Given the description of an element on the screen output the (x, y) to click on. 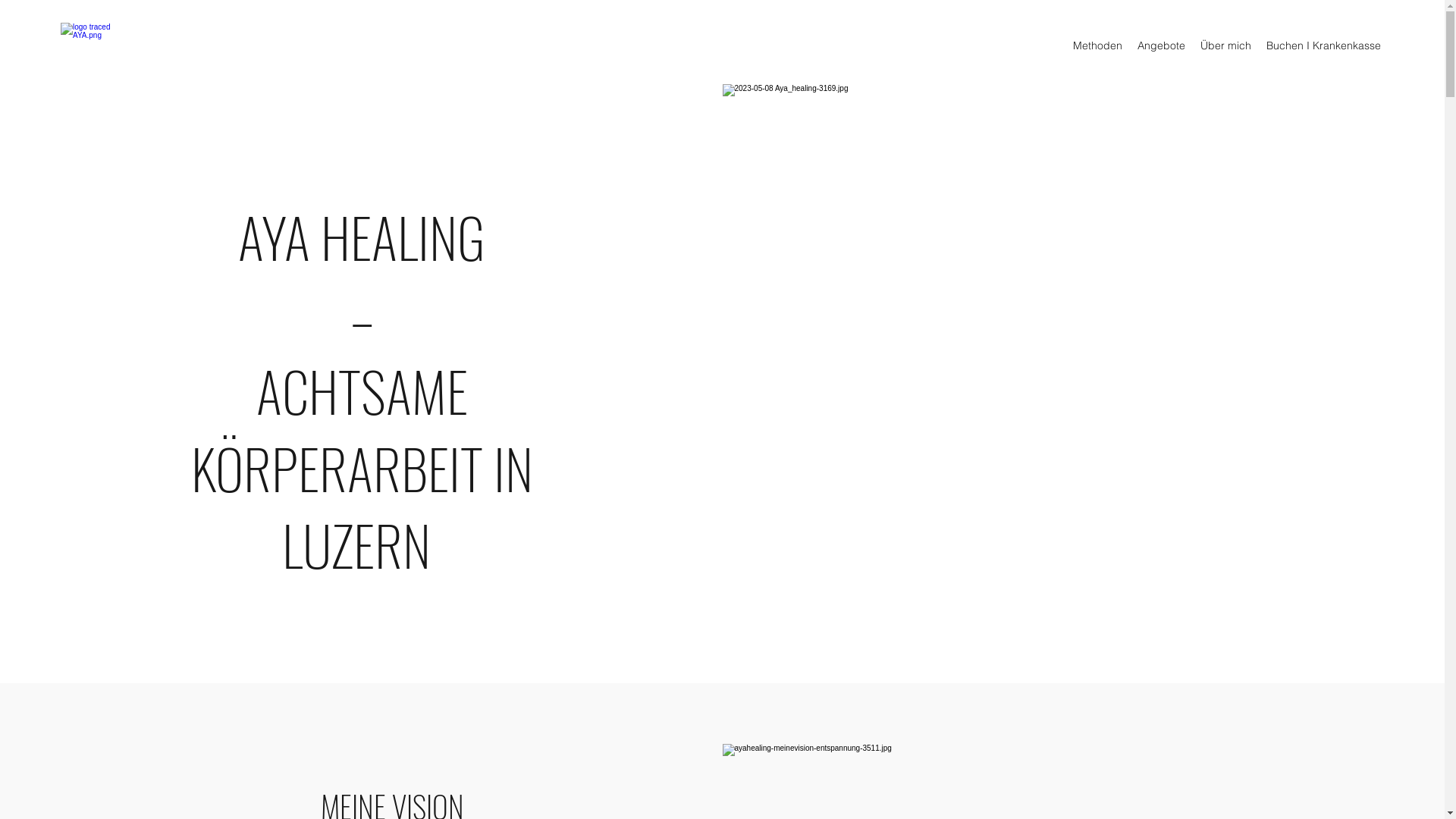
Angebote Element type: text (1160, 45)
Buchen I Krankenkasse Element type: text (1323, 45)
